Given the description of an element on the screen output the (x, y) to click on. 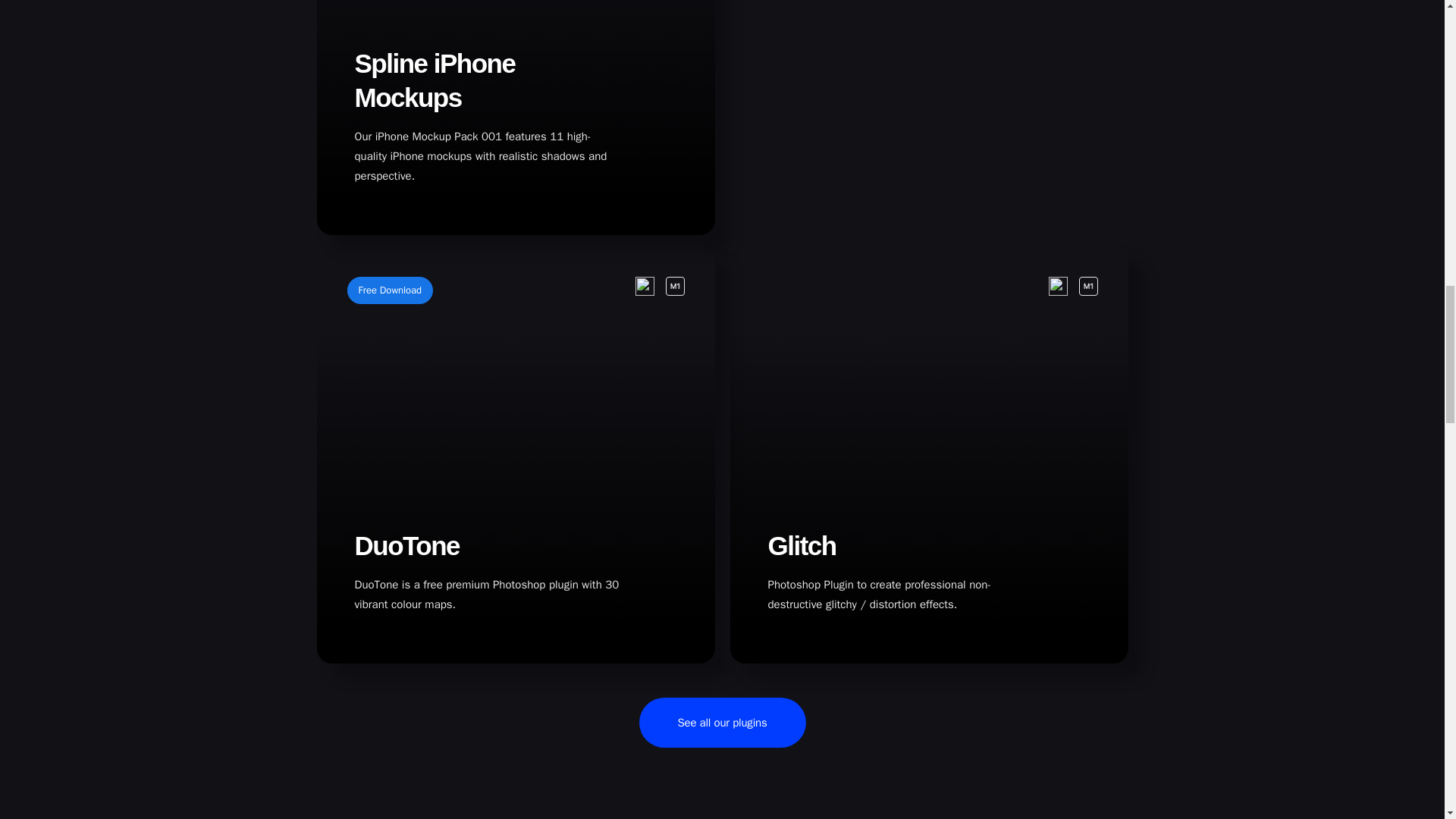
See all our plugins (722, 722)
